Given the description of an element on the screen output the (x, y) to click on. 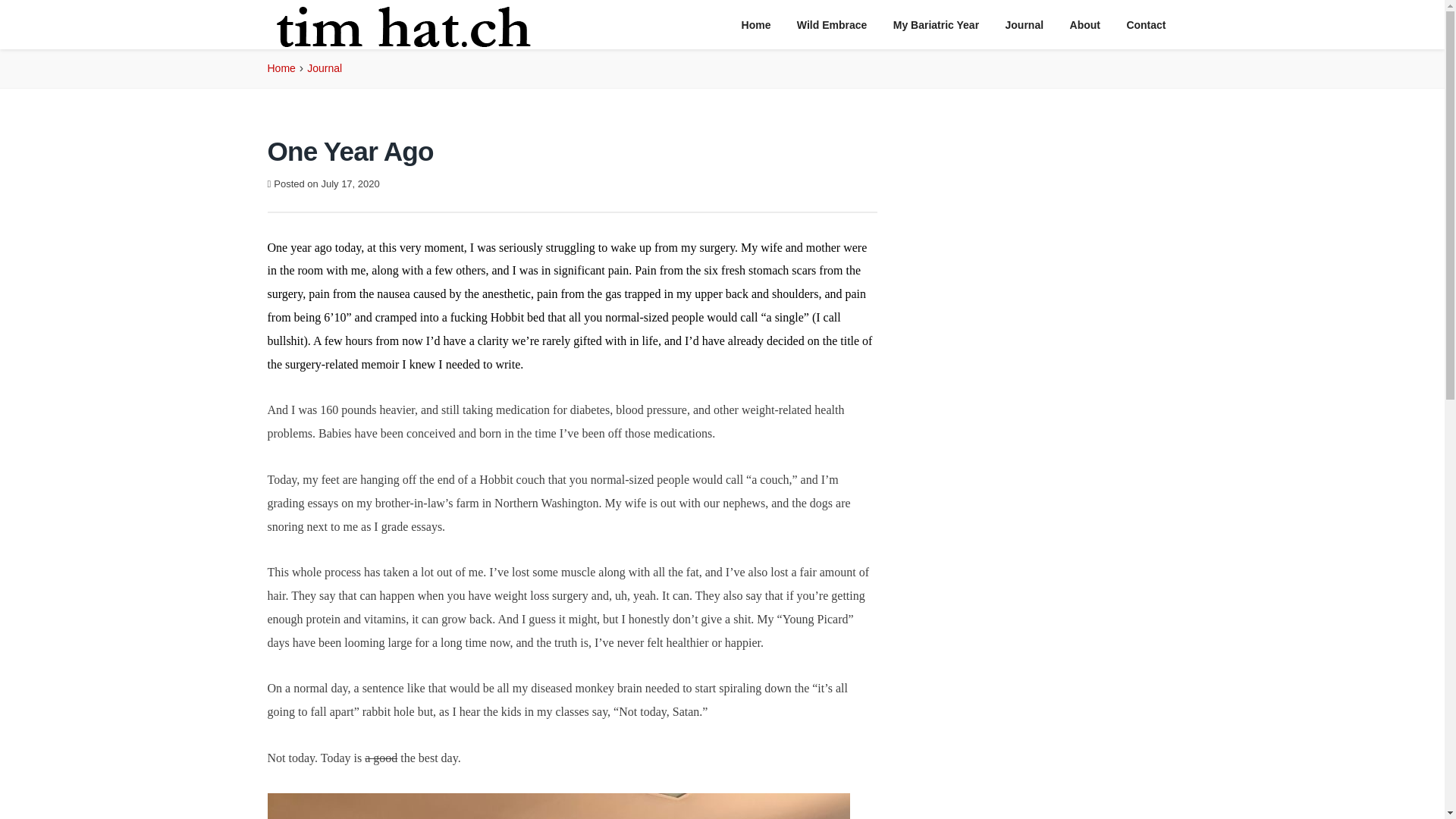
Home (280, 68)
Home (756, 25)
Contact (1145, 25)
July 17, 2020 (349, 183)
Wild Embrace (831, 25)
Journal (1024, 25)
Journal (324, 68)
About (1085, 25)
My Bariatric Year (936, 25)
